Given the description of an element on the screen output the (x, y) to click on. 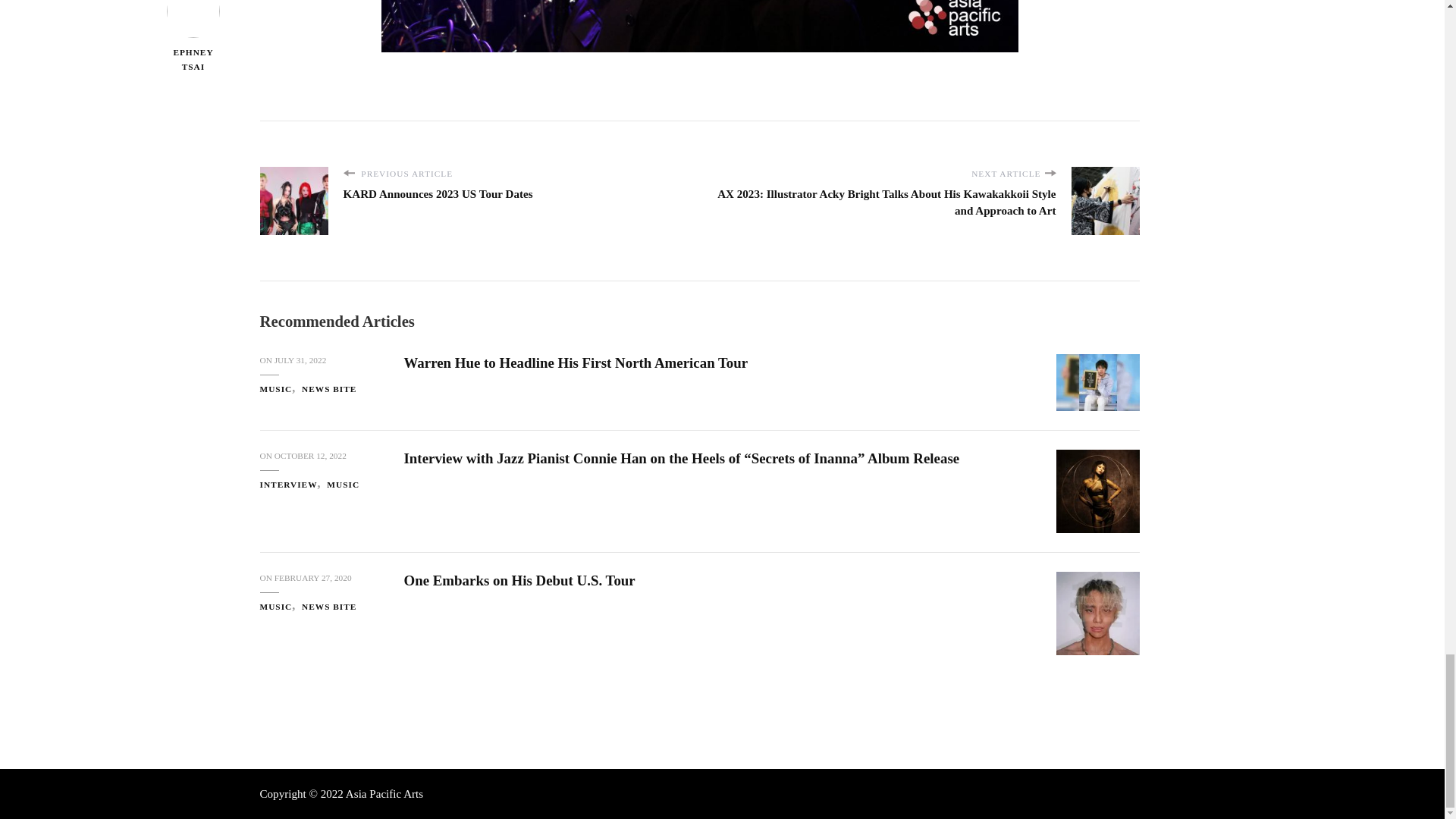
NEWS BITE (328, 389)
MUSIC (279, 389)
Warren Hue to Headline His First North American Tour (575, 362)
JULY 31, 2022 (300, 359)
